Given the description of an element on the screen output the (x, y) to click on. 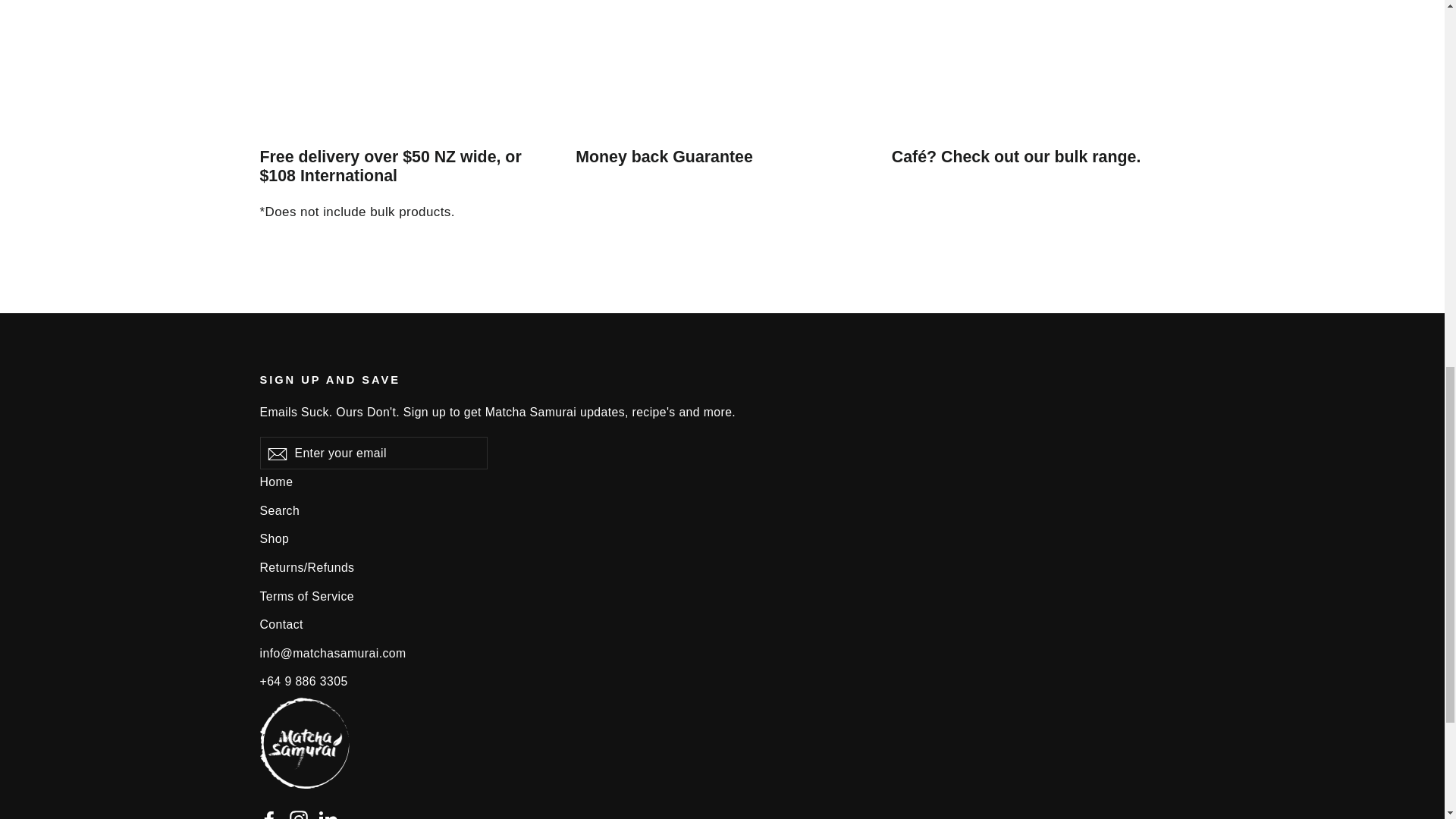
Matcha Samurai on LinkedIn (327, 813)
Matcha Samurai on Facebook (268, 813)
Matcha Samurai on Instagram (298, 813)
